Given the description of an element on the screen output the (x, y) to click on. 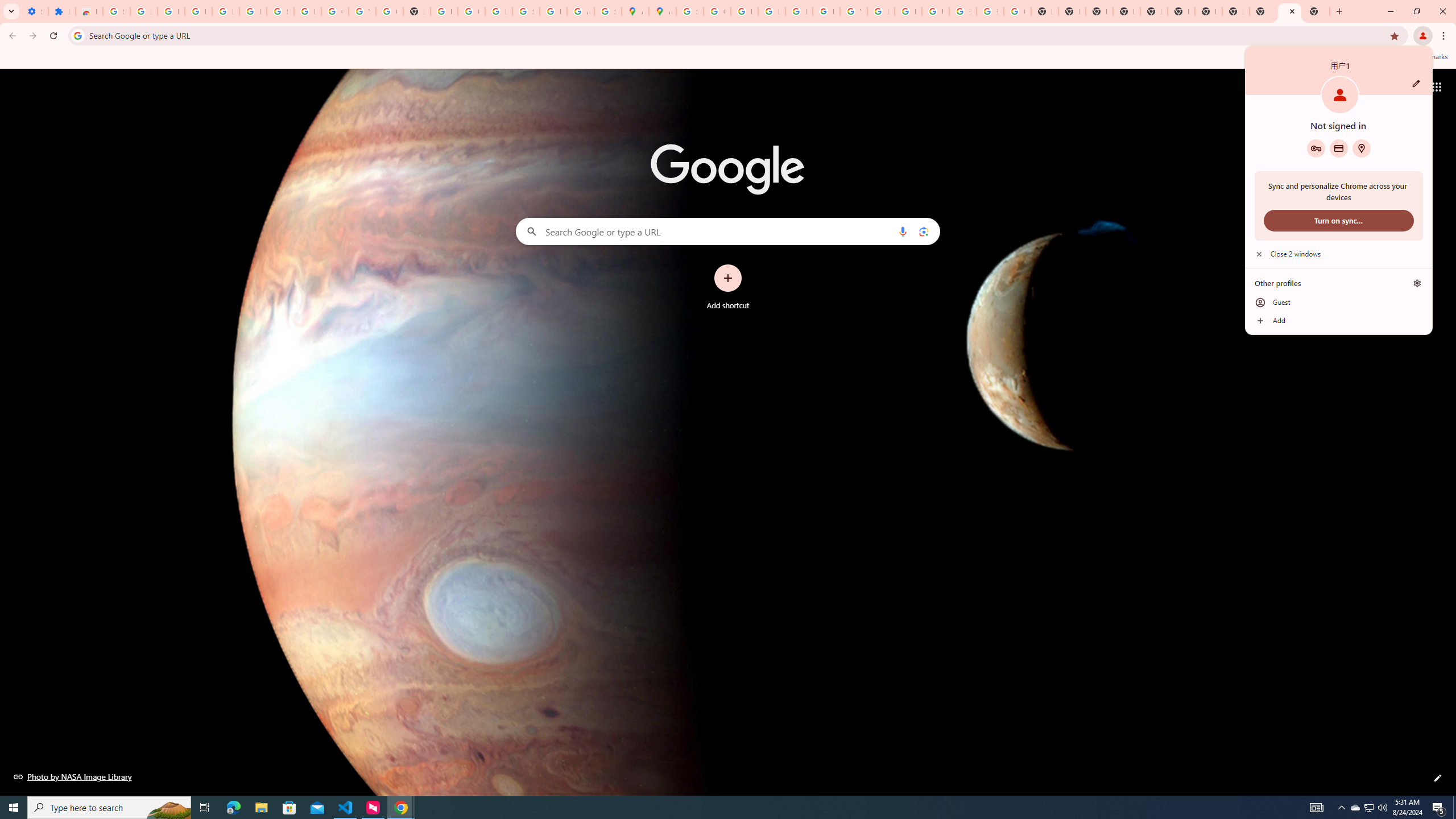
Visual Studio Code - 1 running window (345, 807)
Customize this page (1437, 778)
Add shortcut (727, 287)
Google Account (334, 11)
Microsoft Store (289, 807)
Delete photos & videos - Computer - Google Photos Help (197, 11)
YouTube (853, 11)
Photo by NASA Image Library (72, 776)
